Given the description of an element on the screen output the (x, y) to click on. 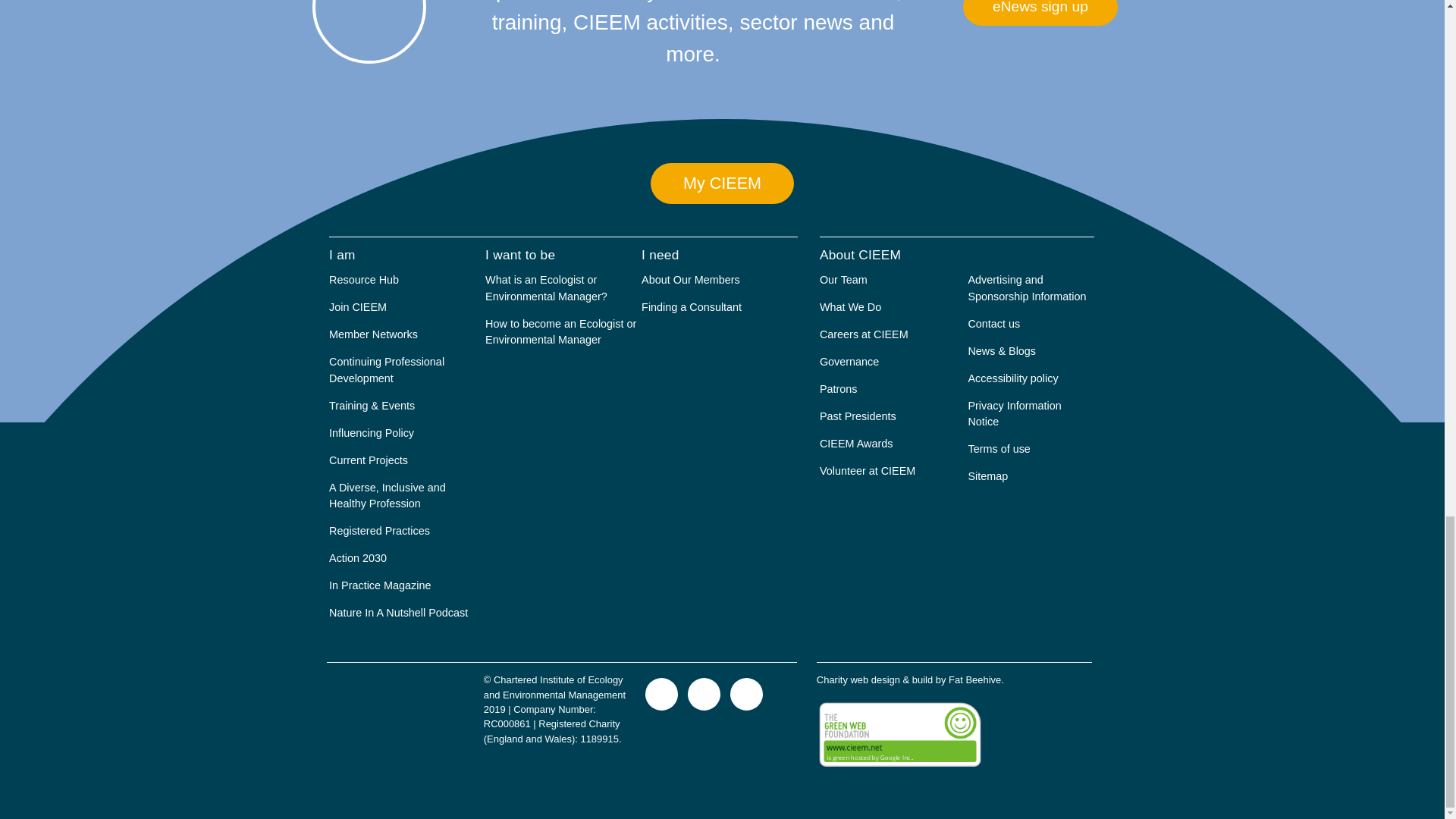
Linkedin (703, 693)
Facebook (746, 693)
Twitter (660, 693)
